Given the description of an element on the screen output the (x, y) to click on. 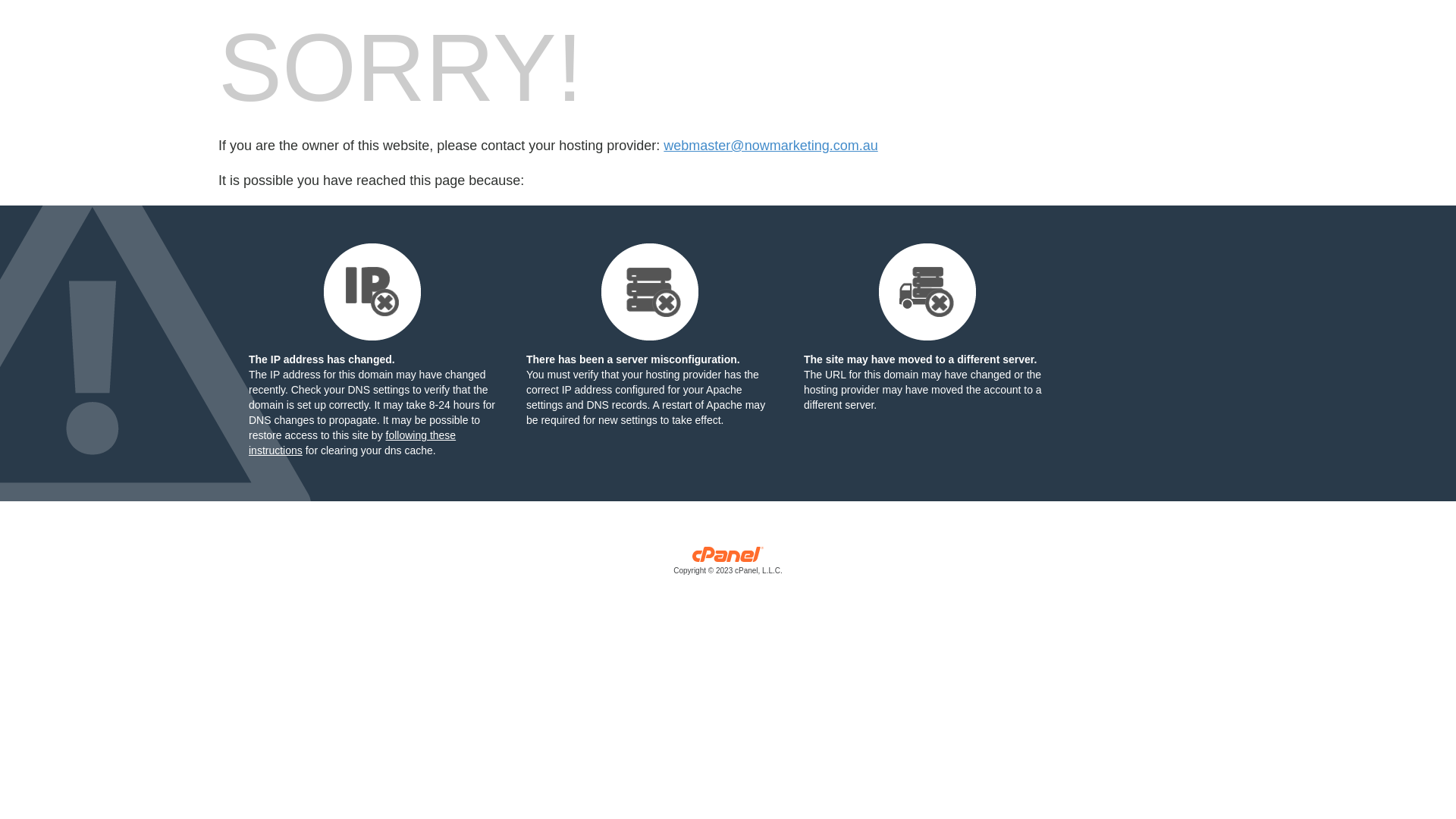
webmaster@nowmarketing.com.au Element type: text (770, 145)
following these instructions Element type: text (351, 442)
